Given the description of an element on the screen output the (x, y) to click on. 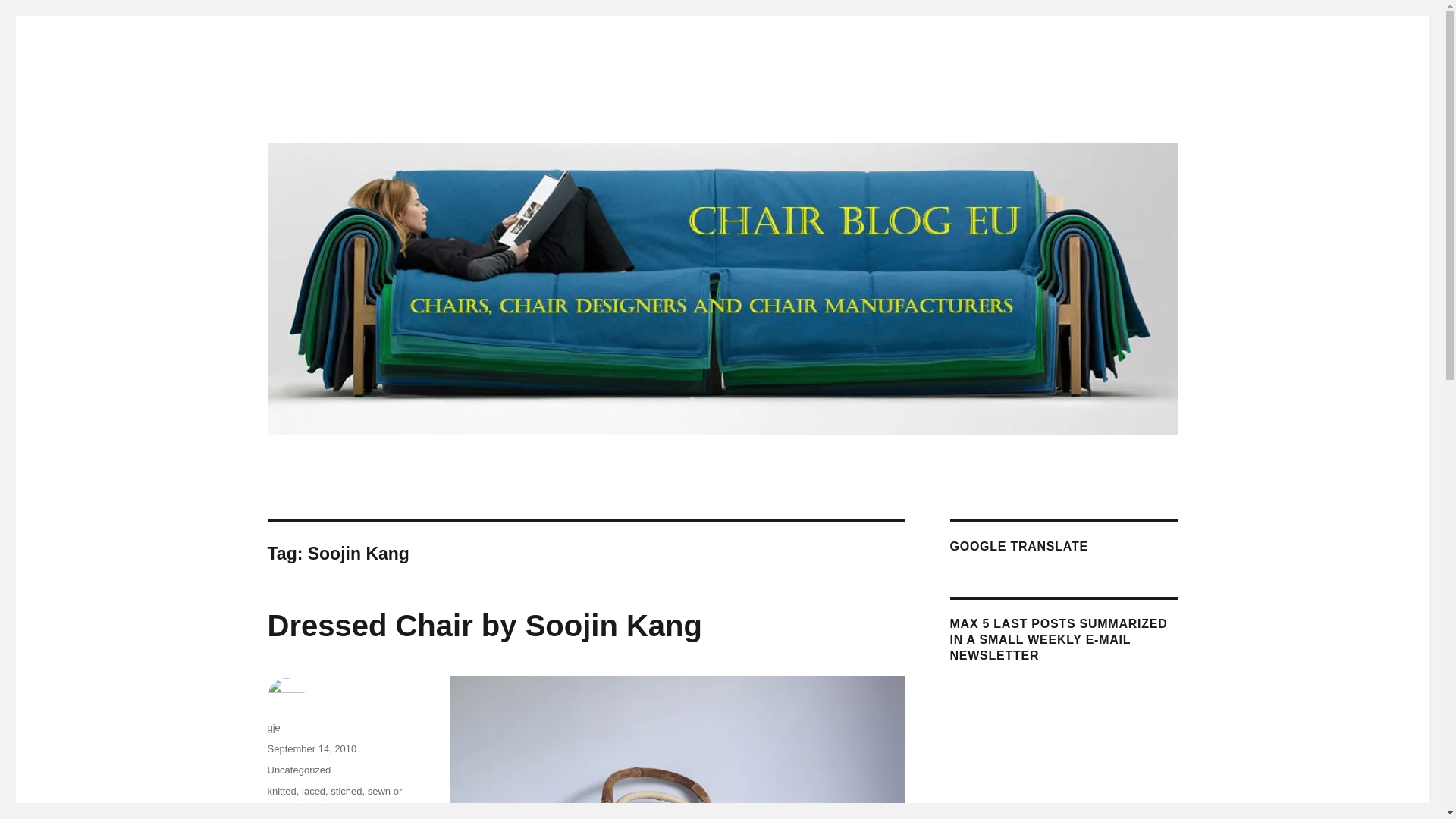
Dressed Chair by Soojin Kang (483, 625)
September 14, 2010 (311, 748)
knitted, laced, stiched, sewn or woven (333, 799)
gje (272, 727)
Soojin Kang (327, 807)
Chairblog.eu (331, 114)
Thonet (374, 807)
patched-chair-by-soojin-kang-1-600x600 (676, 747)
